Given the description of an element on the screen output the (x, y) to click on. 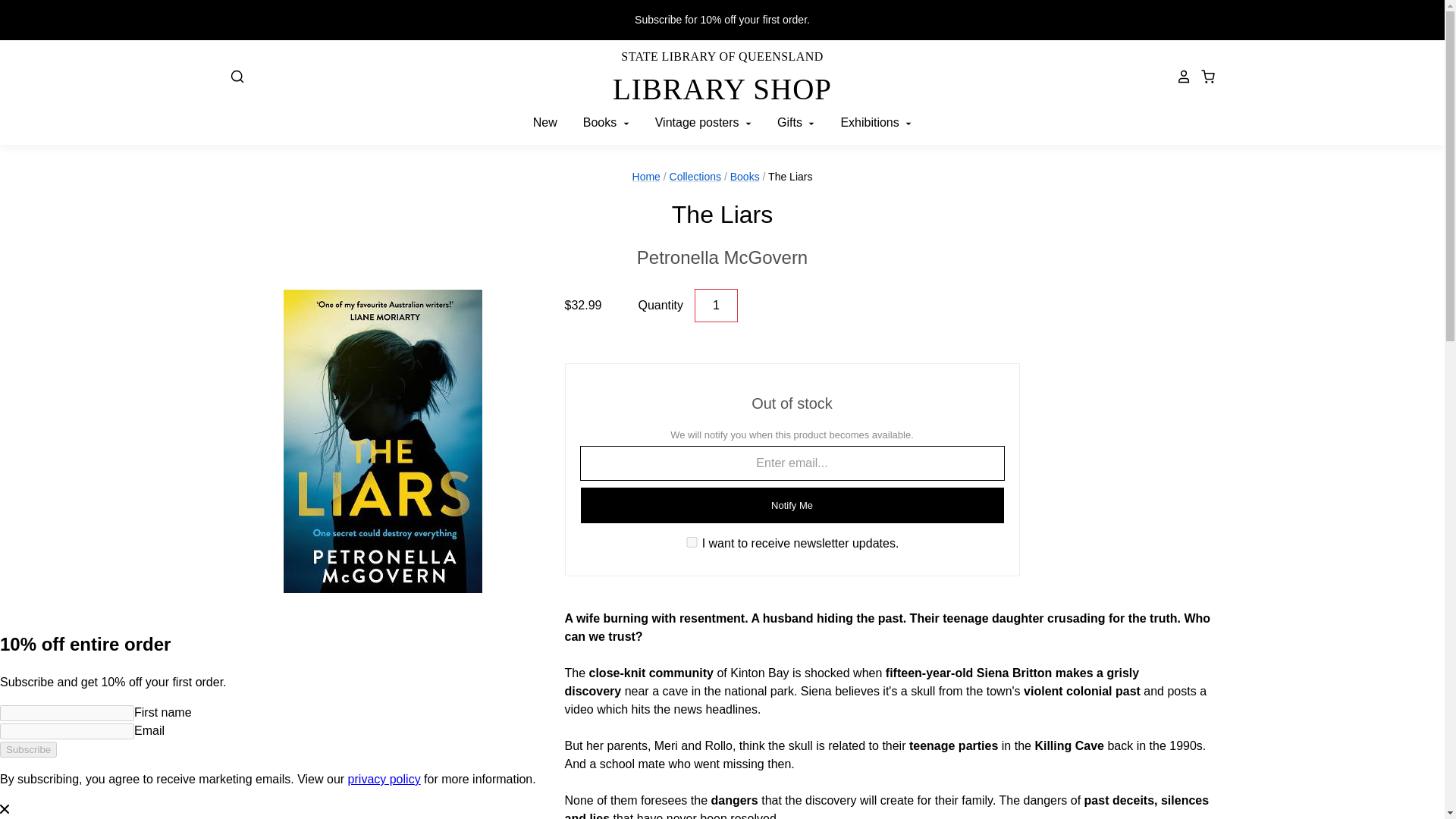
on (722, 257)
1 (691, 542)
